Given the description of an element on the screen output the (x, y) to click on. 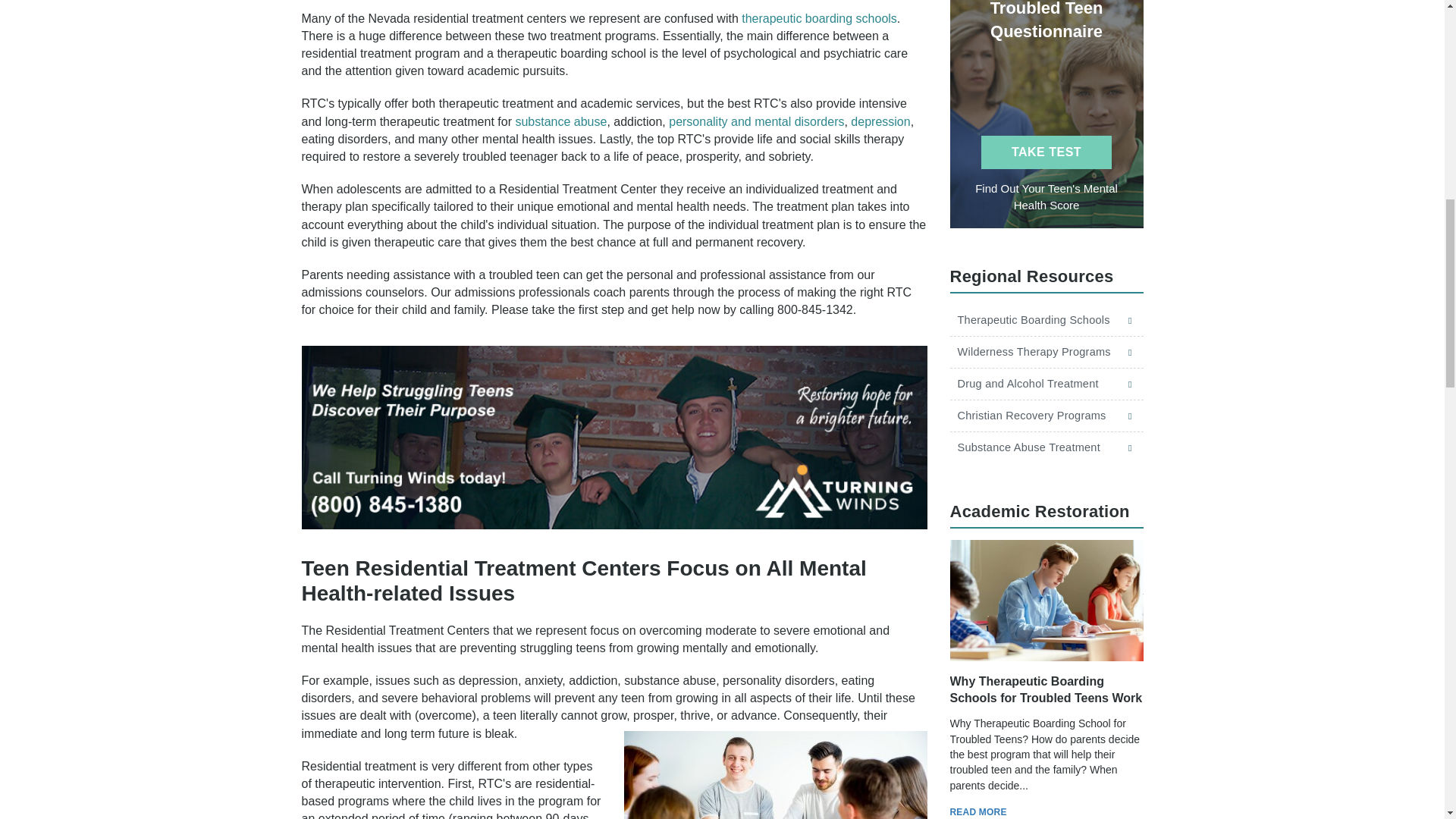
Residential Treatment Centers for Troubled Teens (774, 775)
Find the top Therapeutic Boarding Schools in your State (818, 18)
Help for teenagers suffering from depression (880, 121)
Substance Abuse Treatment for Troubled Teenagers (561, 121)
Contact Turning Winds (614, 437)
